Given the description of an element on the screen output the (x, y) to click on. 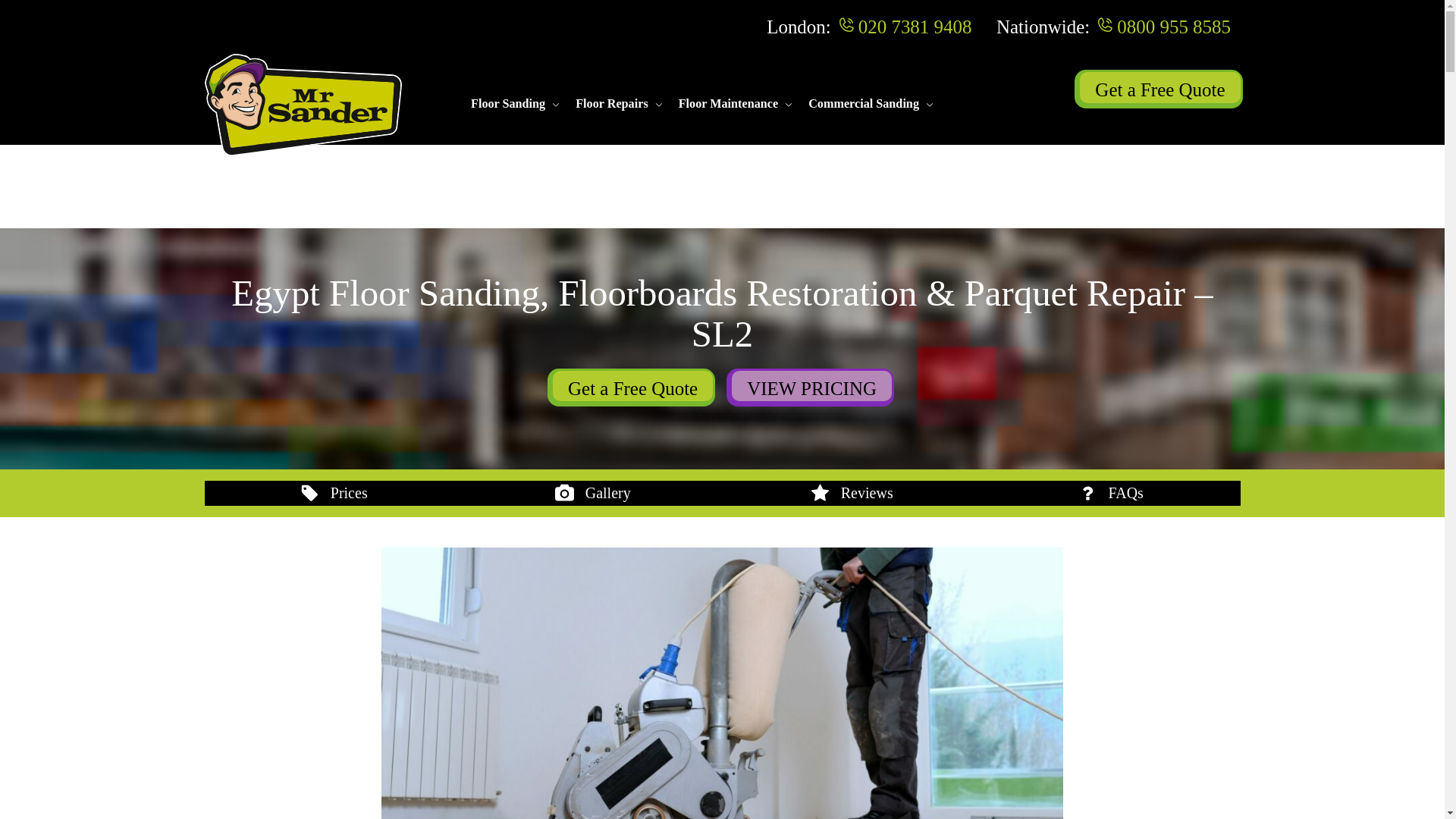
Floor Repairs (611, 104)
Floor Maintenance (727, 104)
0800 955 8585 (1173, 26)
Floor Sanding (507, 104)
020 7381 9408 (915, 26)
